Given the description of an element on the screen output the (x, y) to click on. 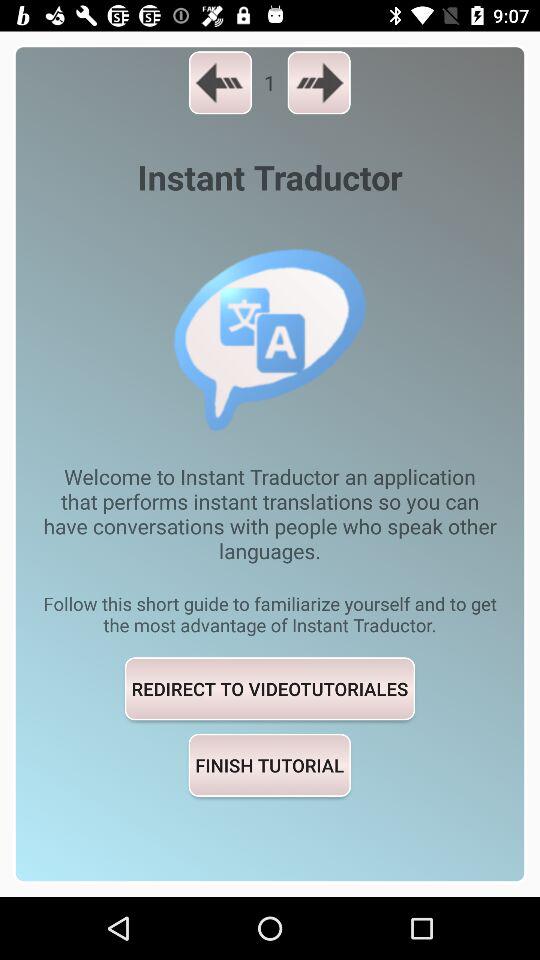
jump to redirect to videotutoriales icon (269, 688)
